Given the description of an element on the screen output the (x, y) to click on. 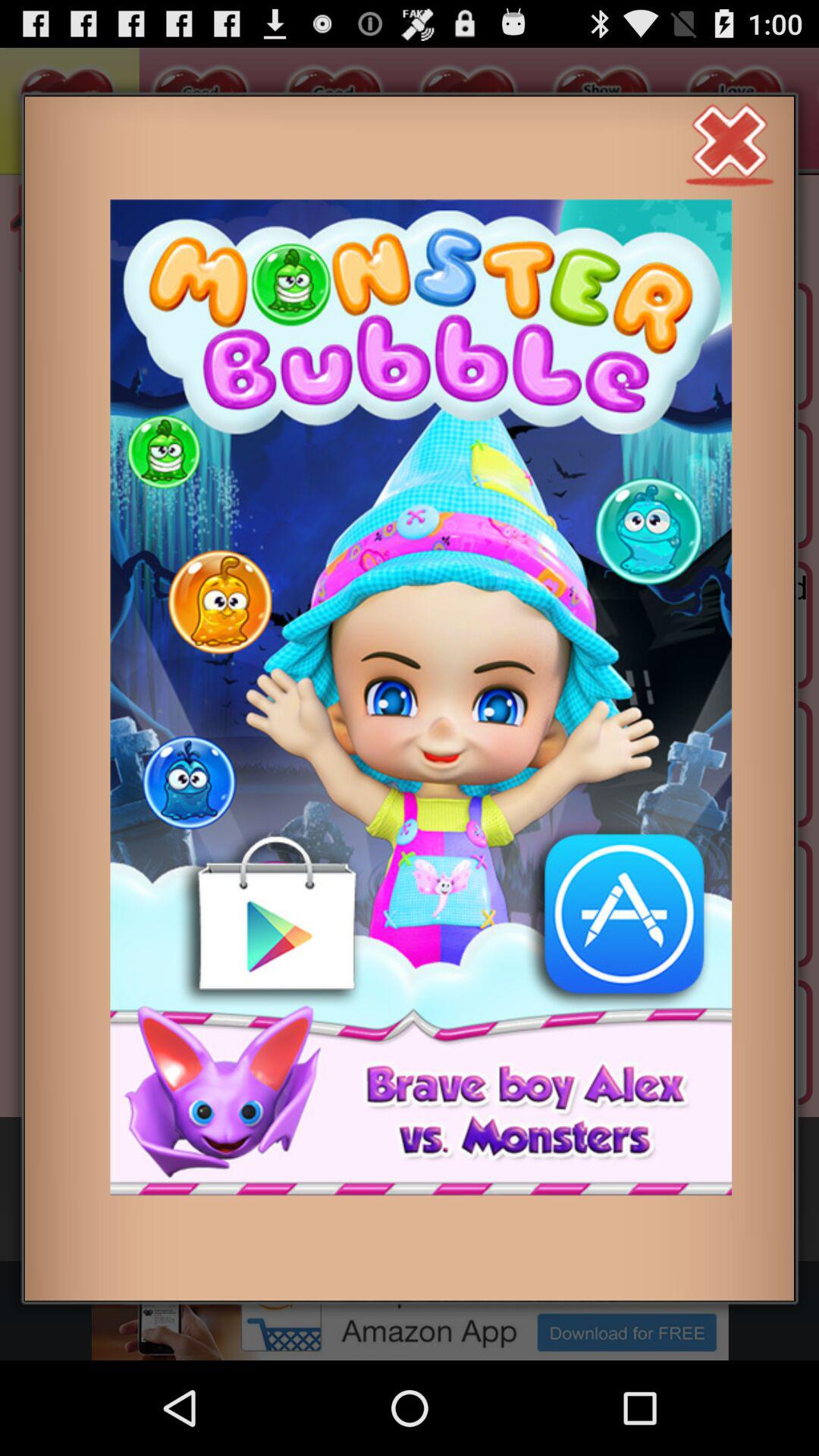
click on advertisement (420, 697)
